Given the description of an element on the screen output the (x, y) to click on. 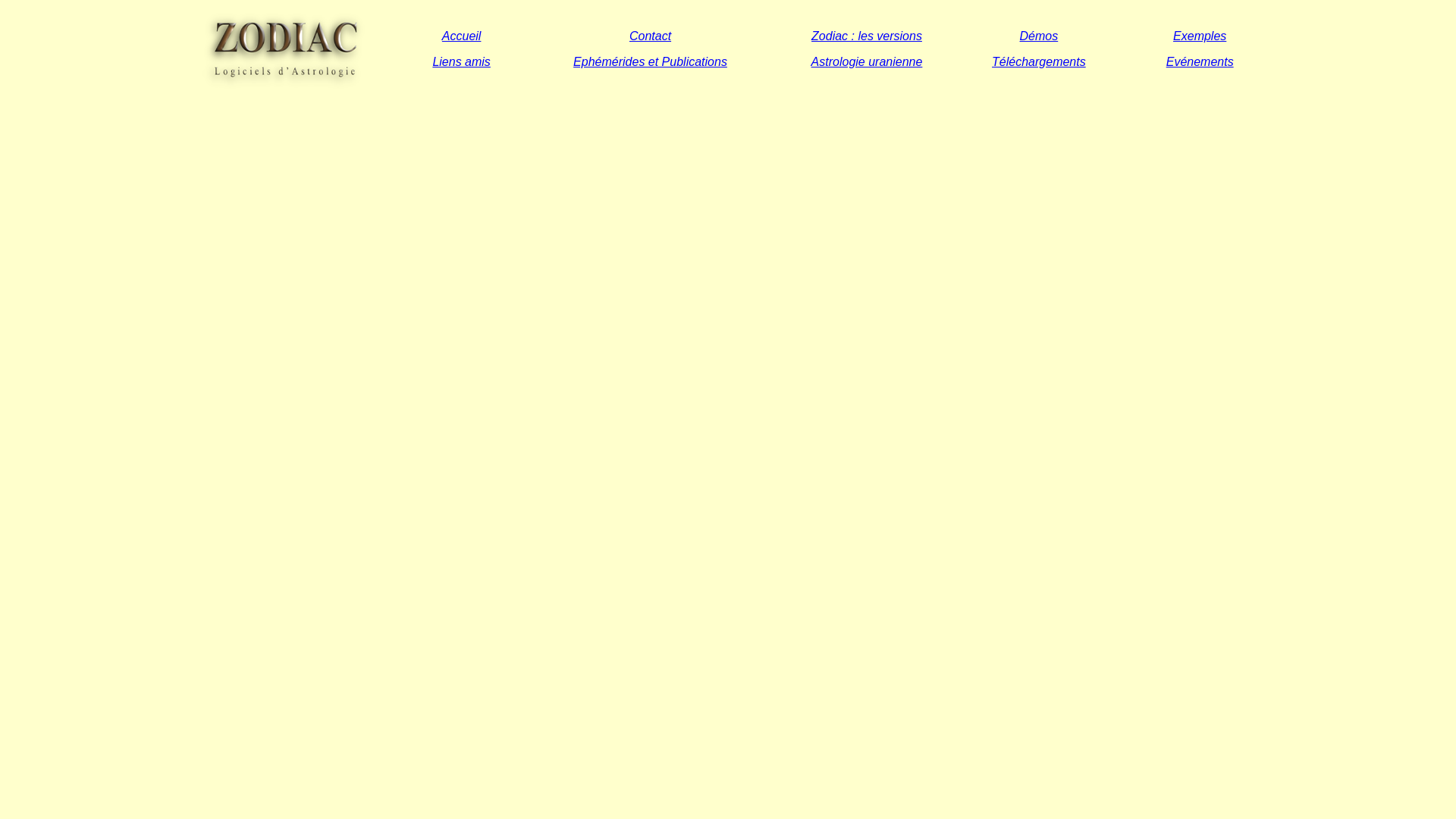
Zodiac : les versions Element type: text (866, 34)
Contact Element type: text (650, 34)
Exemples Element type: text (1199, 34)
Liens amis Element type: text (460, 60)
Astrologie uranienne Element type: text (866, 60)
Accueil Element type: text (461, 34)
